Given the description of an element on the screen output the (x, y) to click on. 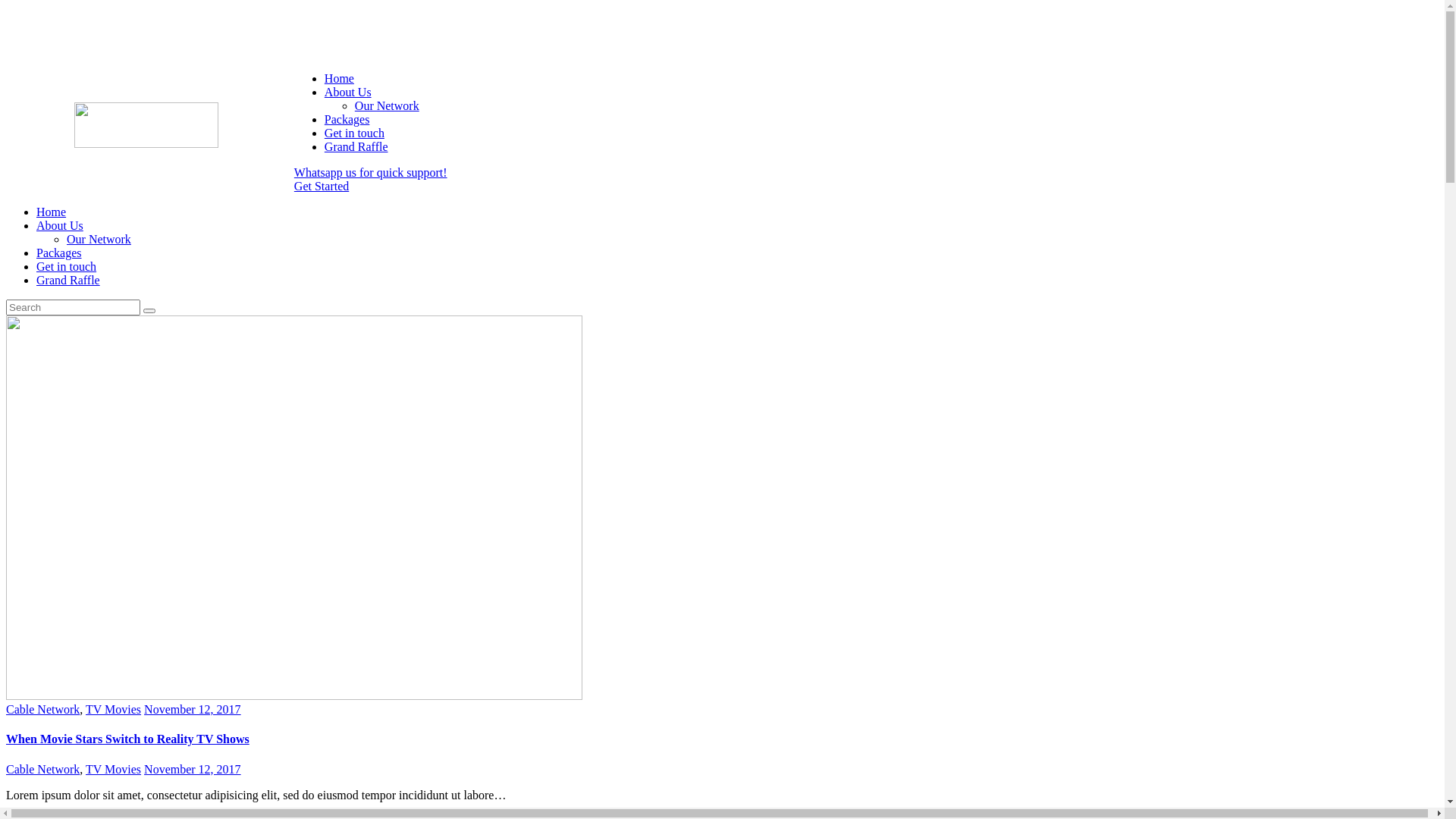
Grand Raffle Element type: text (356, 146)
Packages Element type: text (58, 252)
When Movie Stars Switch to Reality TV Shows Element type: text (127, 738)
Our Network Element type: text (98, 238)
Cable Network Element type: text (42, 708)
Cable Network Element type: text (42, 768)
Get in touch Element type: text (354, 132)
Our Network Element type: text (386, 105)
Home Element type: text (339, 78)
November 12, 2017 Element type: text (192, 708)
Home Element type: text (50, 211)
November 12, 2017 Element type: text (192, 768)
About Us Element type: text (59, 225)
TV Movies Element type: text (113, 768)
About Us Element type: text (347, 91)
Grand Raffle Element type: text (68, 279)
Get in touch Element type: text (66, 266)
Packages Element type: text (347, 118)
Whatsapp us for quick support! Element type: text (370, 172)
Get Started Element type: text (321, 185)
TV Movies Element type: text (113, 708)
